Given the description of an element on the screen output the (x, y) to click on. 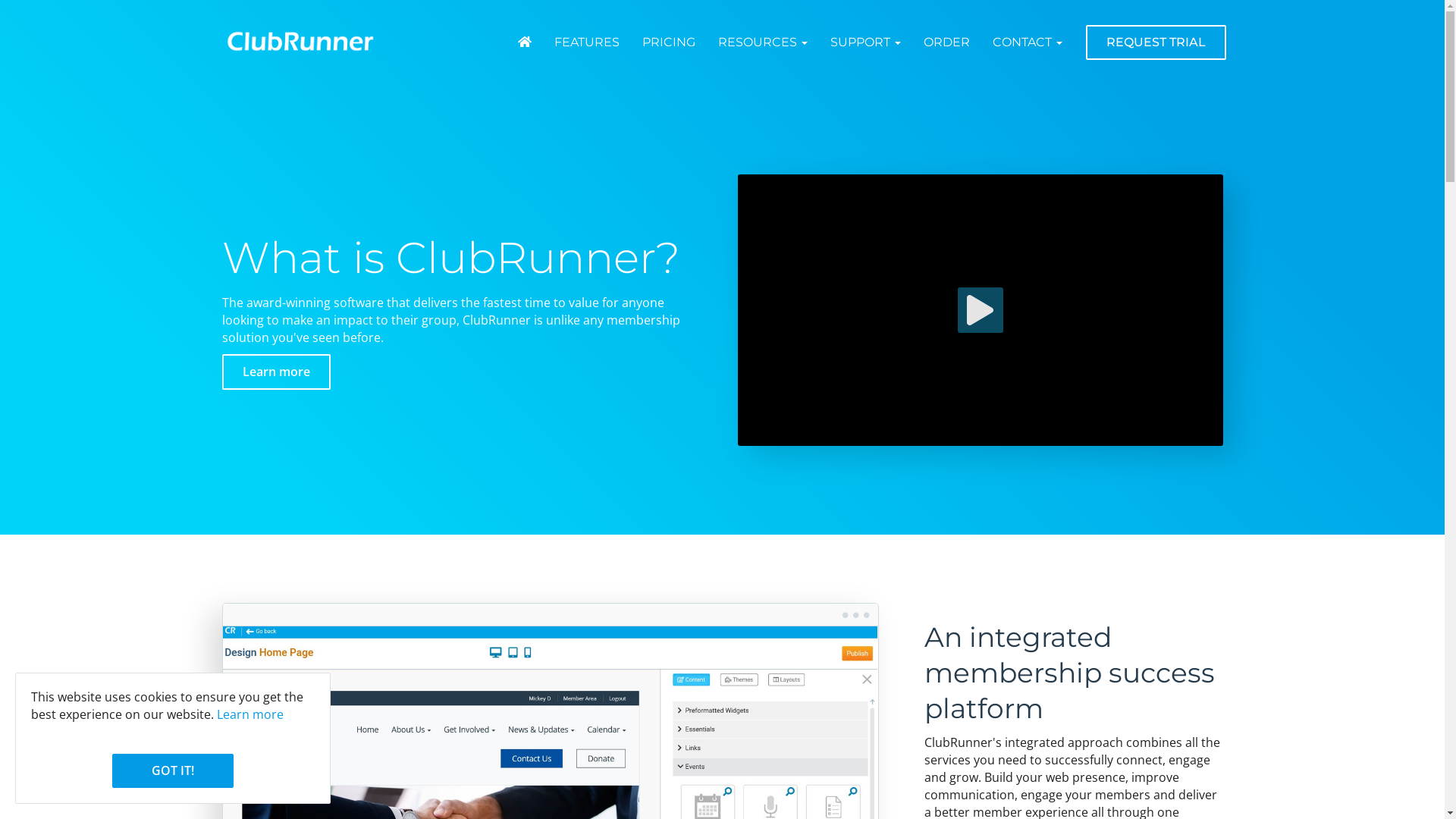
Learn more Element type: text (249, 714)
Learn more Element type: text (275, 371)
FEATURES Element type: text (586, 42)
ORDER Element type: text (945, 42)
REQUEST TRIAL Element type: text (1155, 42)
CONTACT Element type: text (1027, 42)
RESOURCES Element type: text (762, 42)
SUPPORT Element type: text (865, 42)
Home Element type: hover (524, 42)
PRICING Element type: text (668, 42)
GOT IT! Element type: text (172, 770)
